Given the description of an element on the screen output the (x, y) to click on. 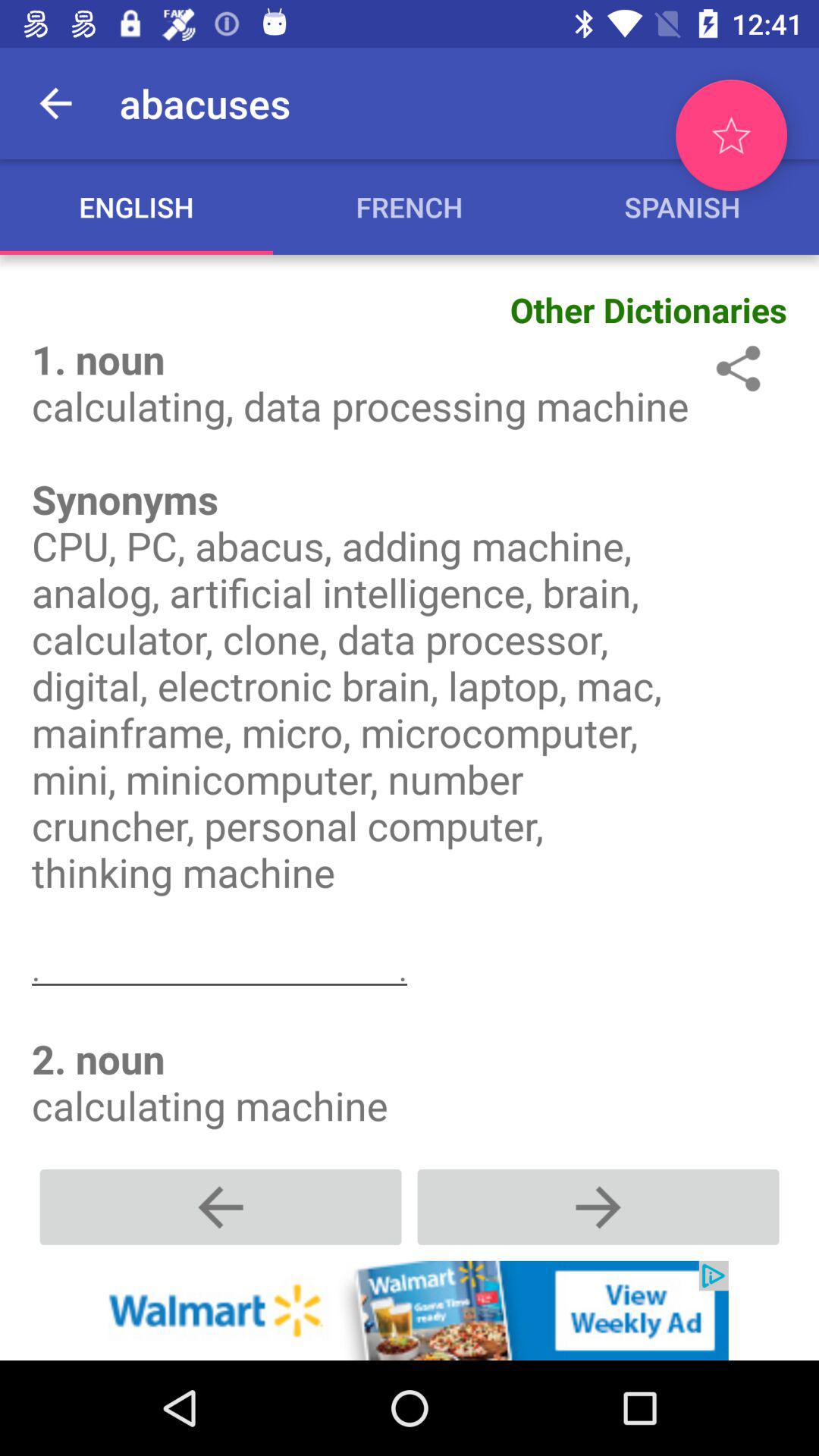
toggle favorite (731, 135)
